Given the description of an element on the screen output the (x, y) to click on. 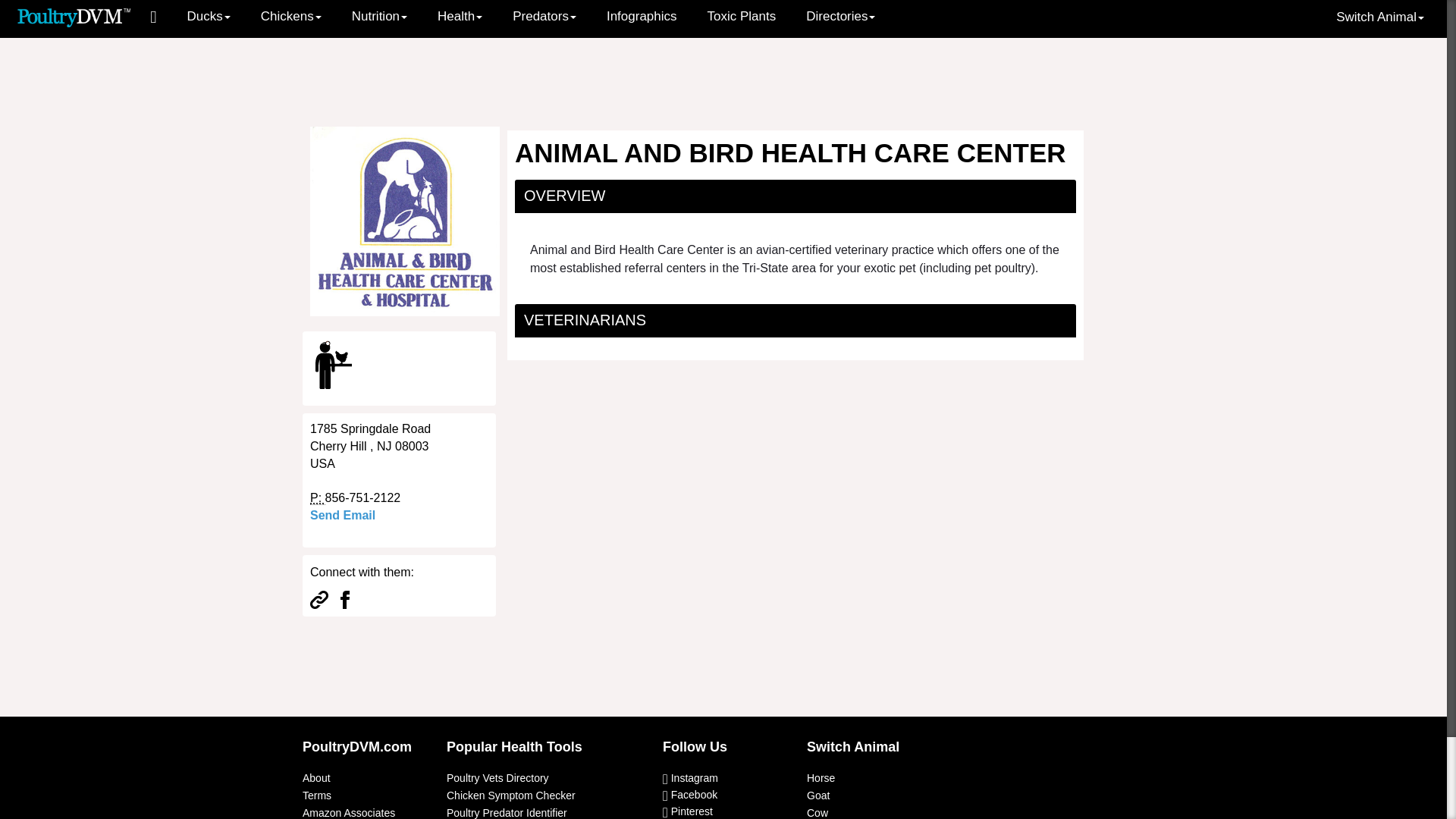
Chicken and Duck Infographics (642, 16)
PoultryDVM Logo (74, 15)
Toxic Plants to Chickens (742, 16)
Chickens (291, 16)
Switch Animal (1379, 17)
Health (459, 16)
VETERINARIANS (585, 320)
Directories (839, 16)
Ducks (208, 16)
Infographics (642, 16)
Toxic Plants (742, 16)
OVERVIEW (564, 195)
Send Email (342, 514)
Predators (544, 16)
Nutrition (379, 16)
